Given the description of an element on the screen output the (x, y) to click on. 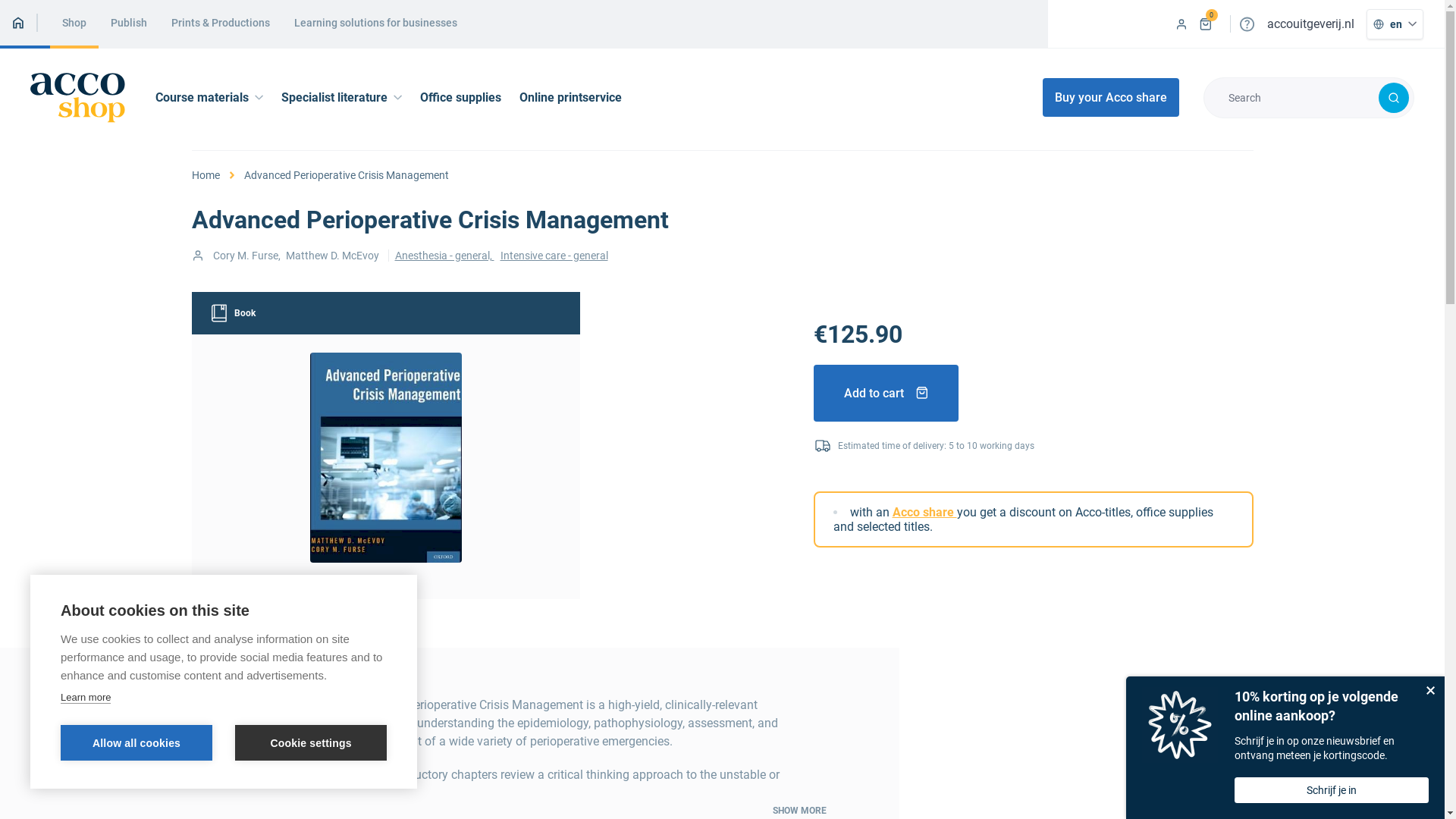
Matthew D. McEvoy Element type: text (331, 255)
Shop Element type: text (74, 24)
Advanced Perioperative Crisis Management - 9780190226459 Element type: hover (385, 457)
Publish Element type: text (128, 24)
Cookie settings Element type: text (310, 742)
Anesthesia - general, Element type: text (443, 255)
Buy your Acco share Element type: text (1110, 97)
Online printservice Element type: text (570, 97)
Learning solutions for businesses Element type: text (375, 24)
SHOW MORE Element type: text (799, 810)
accouitgeverij.nl Element type: text (1310, 23)
Home Element type: text (205, 175)
Advanced Perioperative Crisis Management - 9780190226459 Element type: hover (385, 457)
Learn more Element type: text (85, 697)
Search Element type: text (1393, 97)
Cory M. Furse Element type: text (244, 255)
Acco share Element type: text (923, 512)
Intensive care - general Element type: text (554, 255)
Office supplies Element type: text (460, 97)
Allow all cookies Element type: text (136, 742)
Add to cart Element type: text (884, 392)
Schrijf je in Element type: text (1331, 790)
0 Element type: text (1205, 24)
Prints & Productions Element type: text (220, 24)
